Given the description of an element on the screen output the (x, y) to click on. 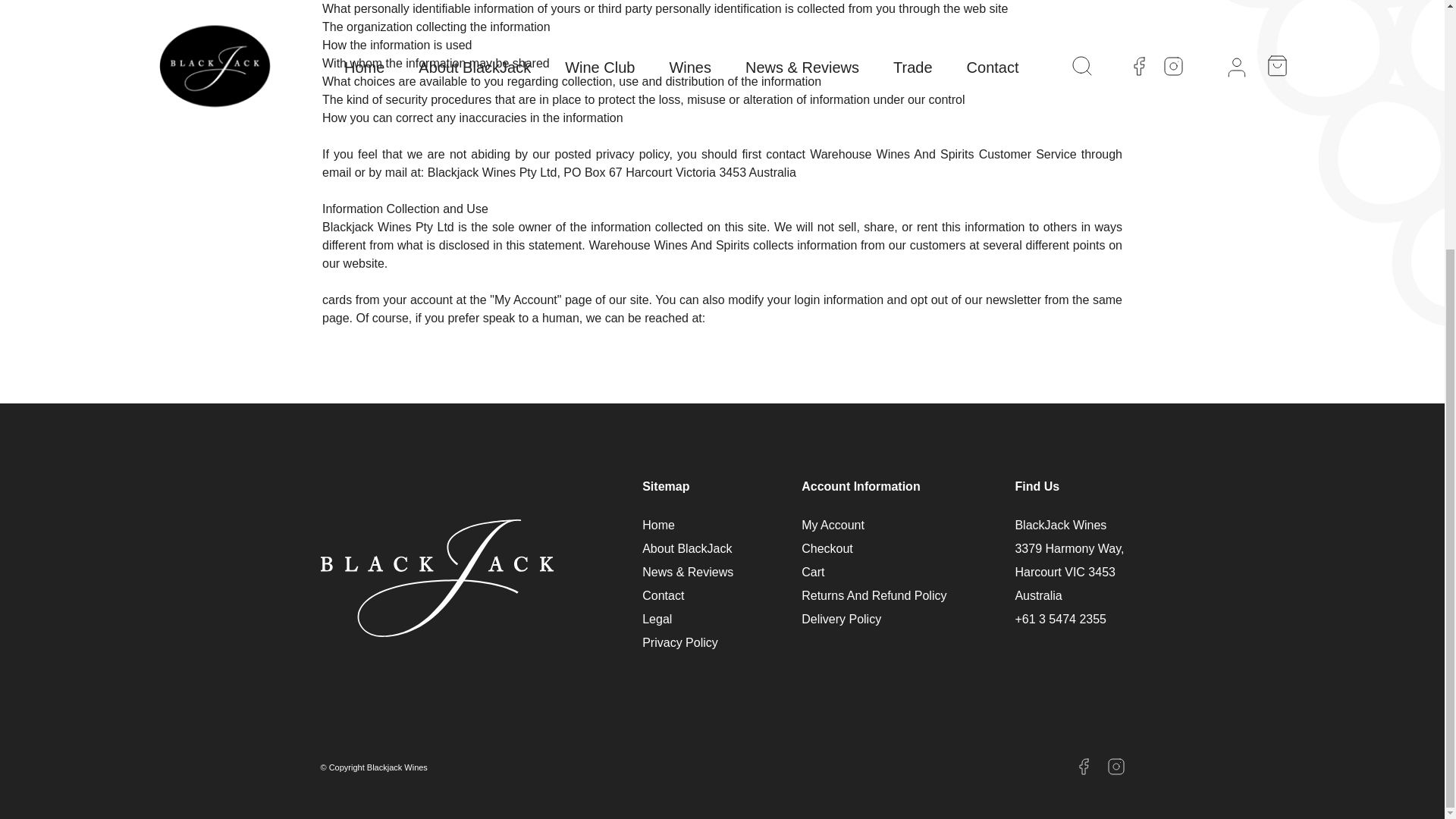
Delivery Policy (841, 619)
Legal (656, 619)
Checkout (827, 548)
About BlackJack (687, 548)
Privacy Policy (679, 643)
Contact (663, 595)
Home (658, 525)
Cart (813, 572)
My Account (833, 525)
Returns And Refund Policy (874, 595)
